Given the description of an element on the screen output the (x, y) to click on. 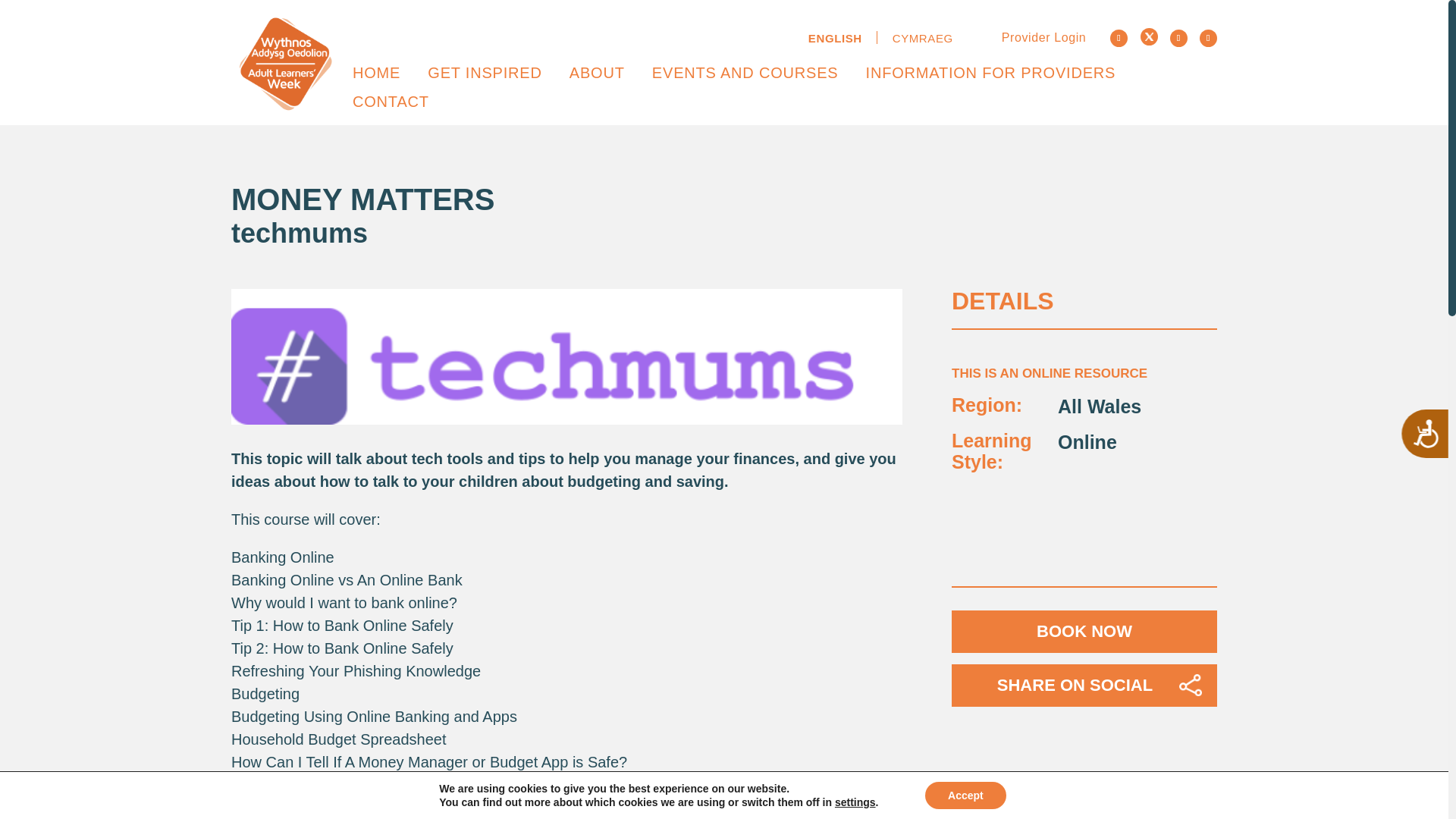
SHARE ON SOCIAL (1084, 685)
Youtube (1208, 37)
BOOK NOW (1084, 631)
CYMRAEG (915, 37)
CONTACT (390, 101)
EVENTS AND COURSES (745, 72)
ABOUT (596, 72)
GET INSPIRED (484, 72)
INFORMATION FOR PROVIDERS (991, 72)
techmums (299, 232)
Instagram (1179, 37)
Facebook (1117, 37)
Follow on X (1148, 36)
ENGLISH (835, 37)
Provider Login (1032, 36)
